Given the description of an element on the screen output the (x, y) to click on. 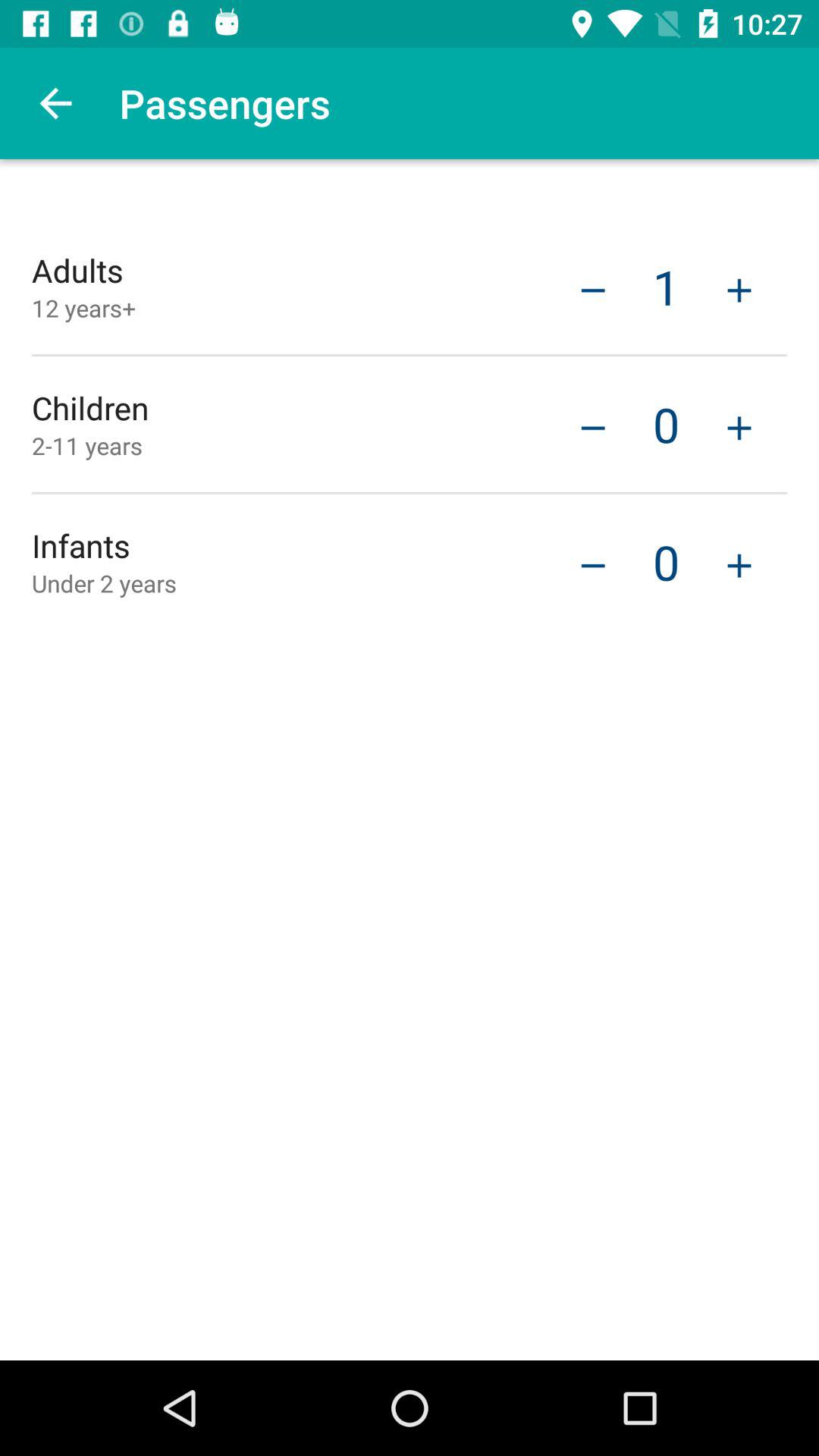
choose icon to the right of 0 icon (739, 563)
